Given the description of an element on the screen output the (x, y) to click on. 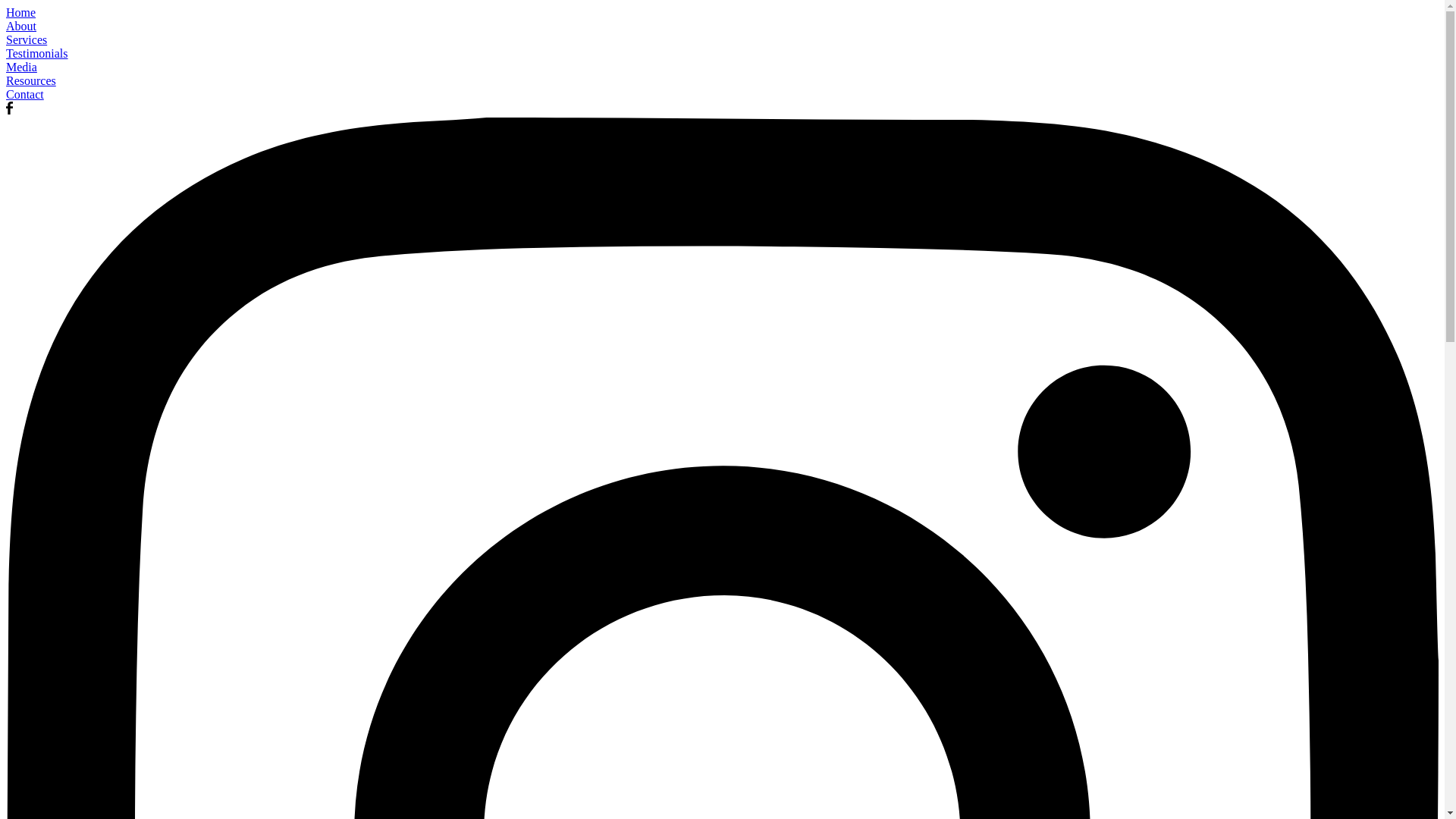
A link to this website's Facebook. Element type: hover (9, 109)
Services Element type: text (722, 40)
Testimonials Element type: text (722, 53)
Contact Element type: text (722, 94)
Resources Element type: text (722, 80)
Home Element type: text (722, 12)
About Element type: text (722, 26)
Media Element type: text (722, 67)
